Given the description of an element on the screen output the (x, y) to click on. 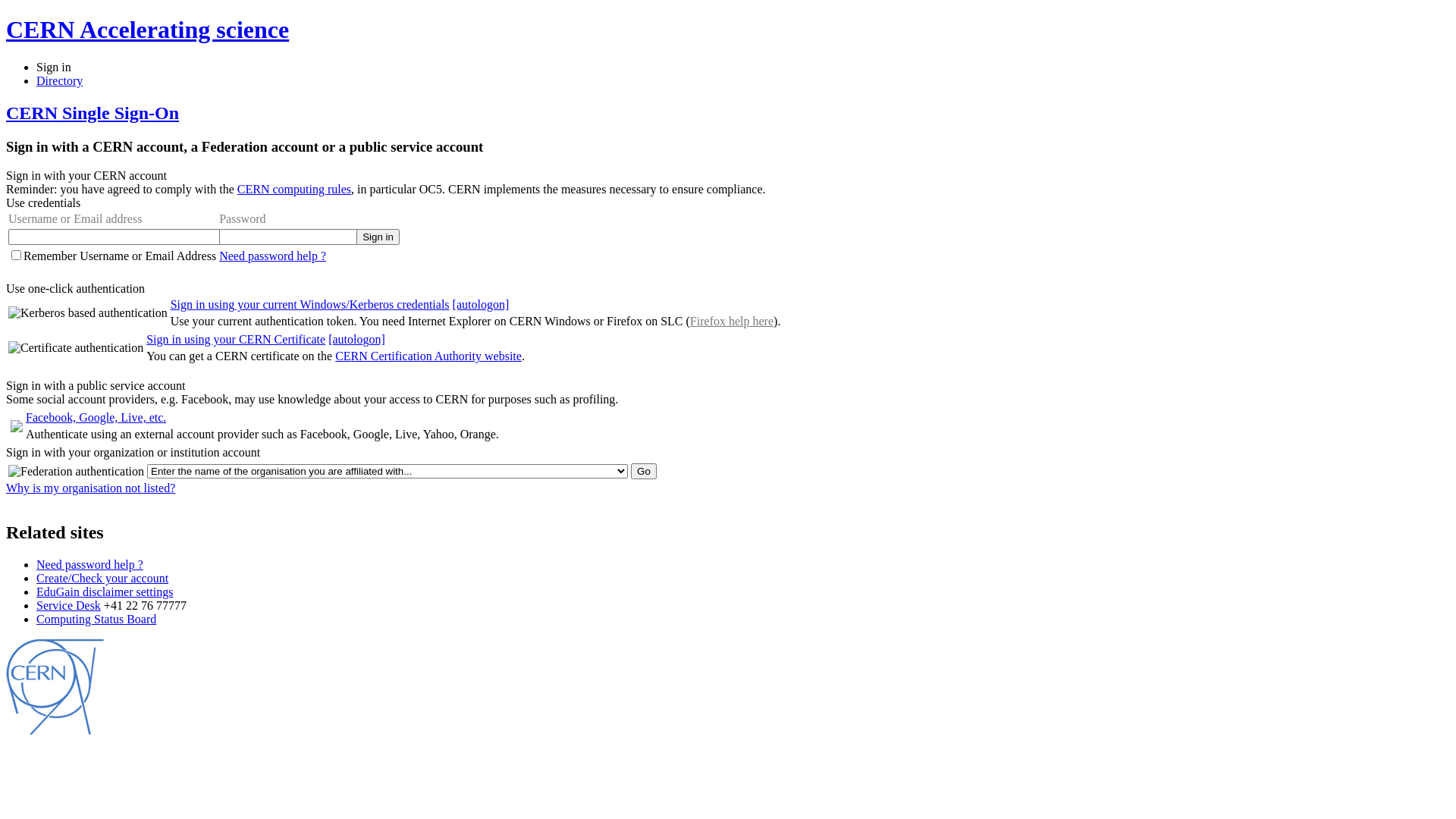
Firefox help here Element type: text (731, 320)
Sign in Element type: text (377, 236)
Computing Status Board Element type: text (96, 618)
CERN Accelerating science Element type: text (147, 29)
Sign in using your current Windows/Kerberos credentials Element type: text (309, 304)
[autologon] Element type: text (480, 304)
Why is my organisation not listed? Element type: text (90, 487)
[show debug information] Element type: text (58, 500)
Sign in Element type: text (53, 66)
CERN Single Sign-On Element type: text (92, 112)
Enter your Username or Email Address Element type: hover (115, 236)
Create/Check your account Element type: text (102, 577)
Need password help ? Element type: text (272, 255)
Facebook, Google, Live, etc. Element type: text (95, 417)
EduGain disclaimer settings Element type: text (104, 591)
CERN computing rules Element type: text (294, 188)
Directory Element type: text (59, 80)
CERN Element type: hover (54, 730)
Go Element type: text (643, 471)
Sign in using your CERN Certificate Element type: text (235, 338)
[autologon] Element type: text (356, 338)
Service Desk Element type: text (68, 605)
CERN Certification Authority website Element type: text (428, 355)
Need password help ? Element type: text (89, 564)
